Given the description of an element on the screen output the (x, y) to click on. 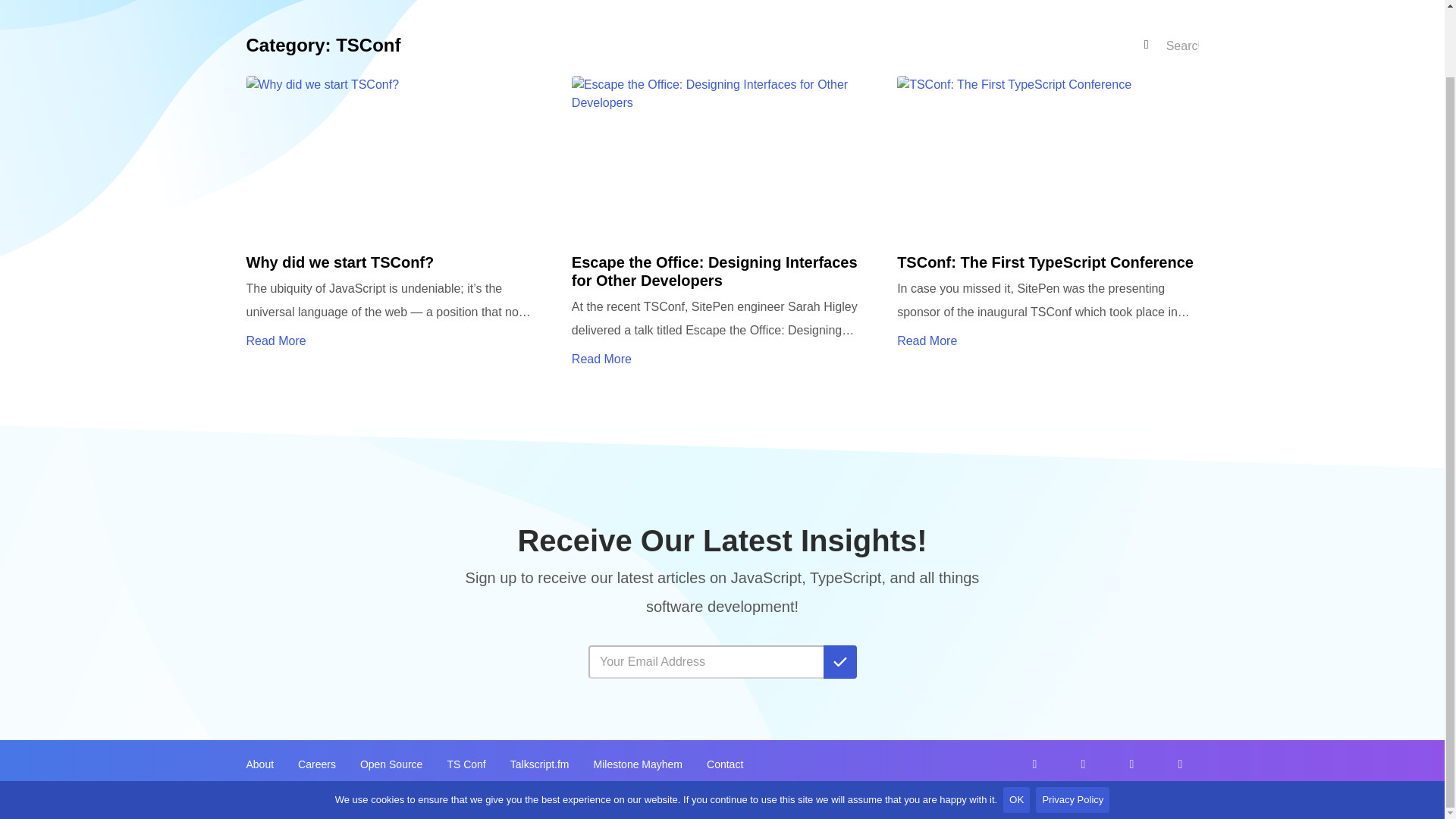
Careers (317, 764)
Contact (724, 764)
Why did we start TSConf? (396, 223)
Escape the Office: Designing Interfaces for Other Developers (722, 223)
Privacy Policy (1169, 803)
Open Source (391, 764)
TSConf: The First TypeScript Conference (1047, 223)
OK (1016, 726)
Newsletter (722, 650)
Privacy Policy (1072, 726)
